Given the description of an element on the screen output the (x, y) to click on. 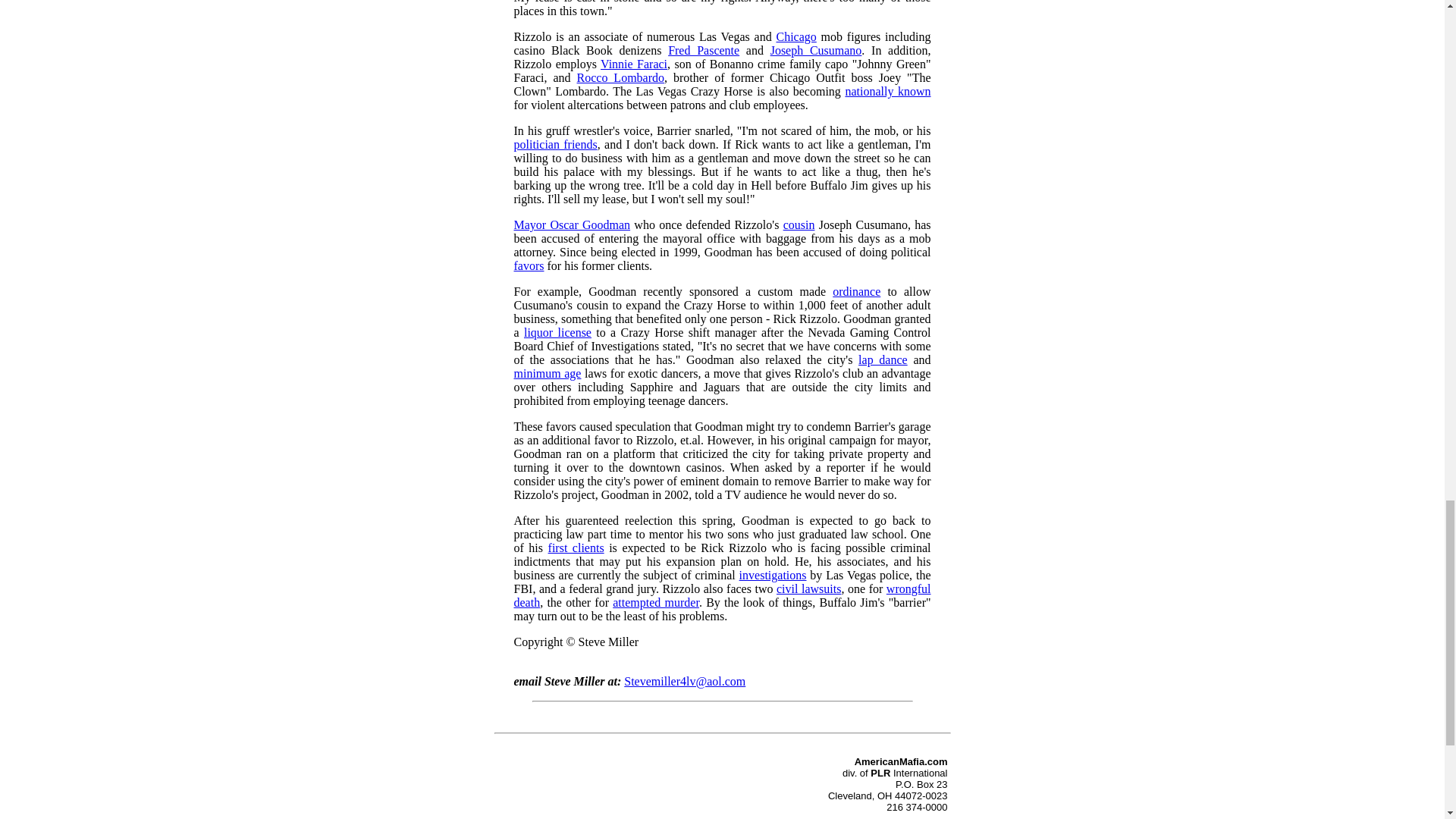
wrongful death (722, 595)
Chicago (795, 36)
lap dance (883, 359)
Rocco Lombardo (620, 77)
Fred Pascente (703, 50)
investigations (772, 574)
Vinnie Faraci (632, 63)
Mayor Oscar Goodman (571, 224)
liquor license (557, 332)
ordinance (856, 291)
minimum age (546, 373)
nationally known (887, 91)
Joseph Cusumano (815, 50)
attempted murder (655, 602)
favors (528, 265)
